Given the description of an element on the screen output the (x, y) to click on. 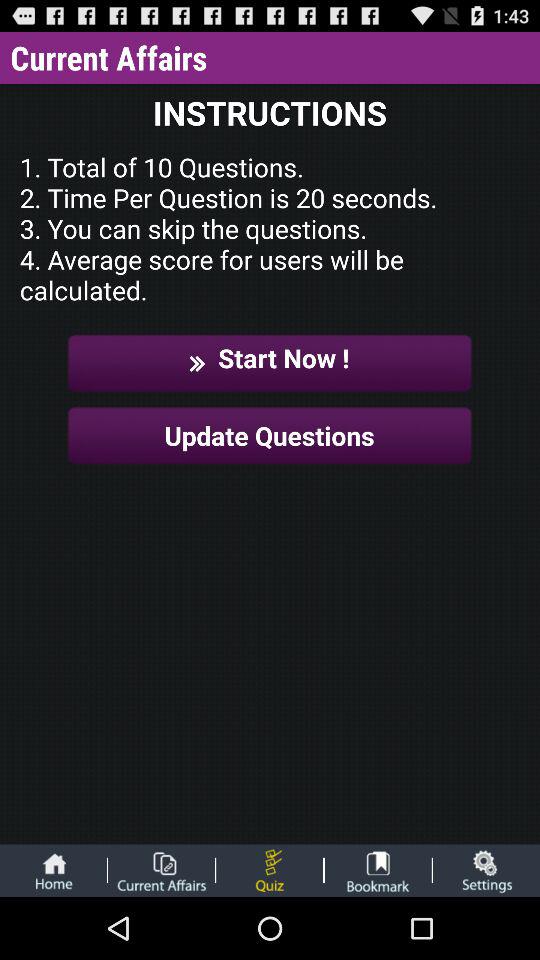
open file (161, 870)
